Given the description of an element on the screen output the (x, y) to click on. 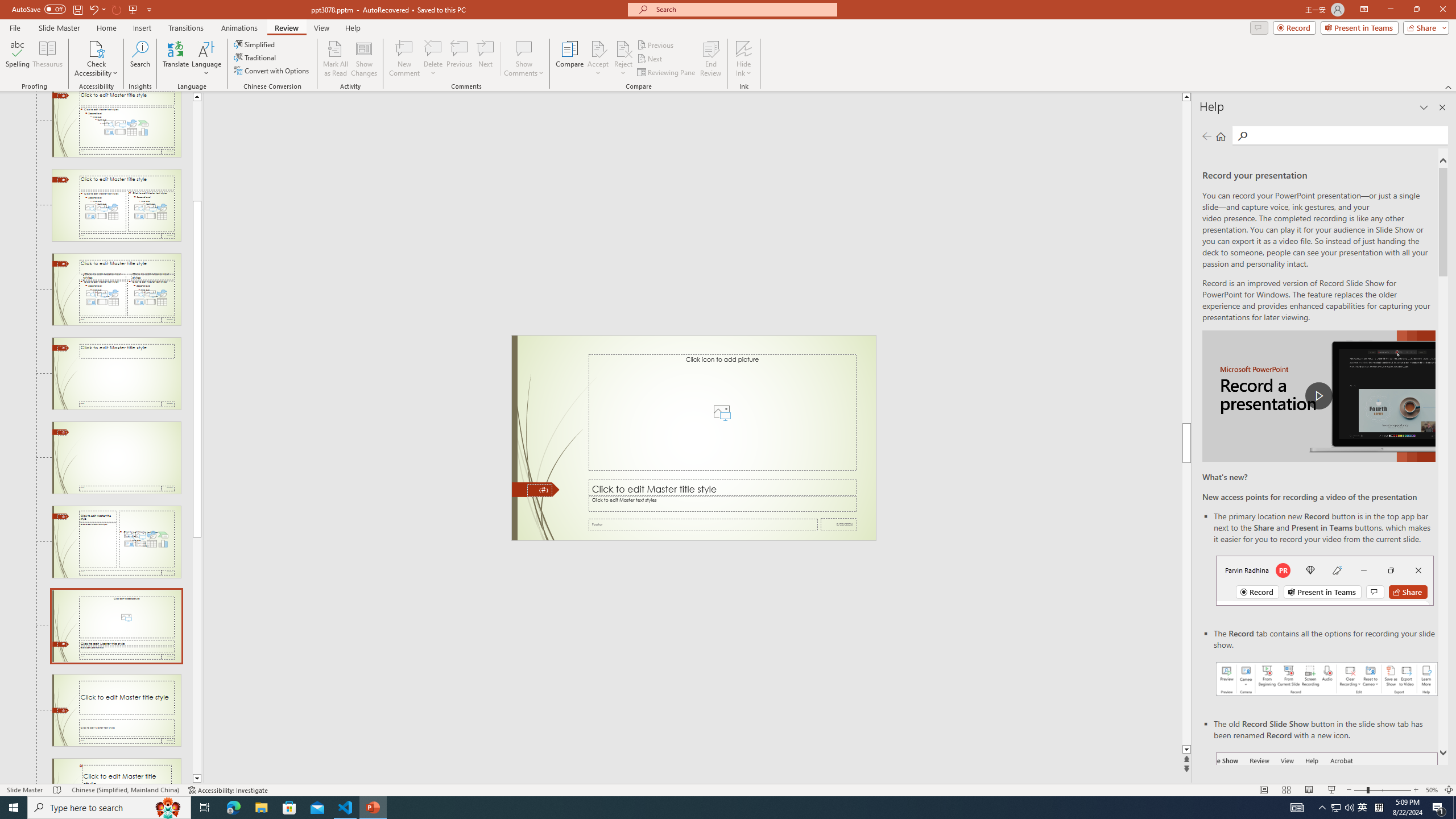
Footer (703, 524)
Record your presentations screenshot one (1326, 678)
Slide Title and Caption Layout: used by no slides (116, 710)
Mark All as Read (335, 58)
Previous (655, 44)
